Given the description of an element on the screen output the (x, y) to click on. 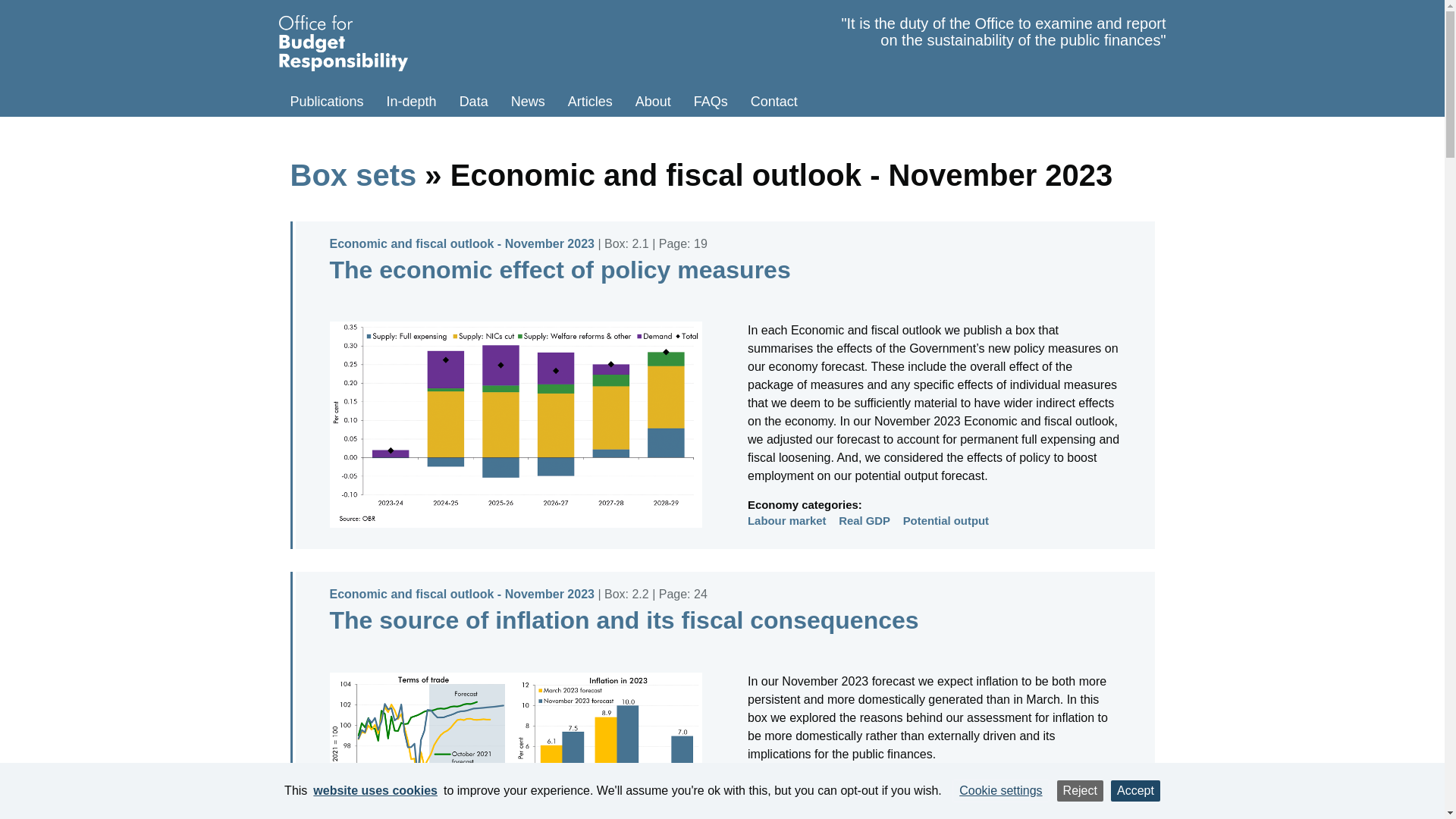
Box sets (352, 174)
Data (473, 101)
About (653, 101)
Publications (327, 101)
News (527, 101)
FAQs (710, 101)
Articles (590, 101)
Economic and fiscal outlook - November 2023 (461, 243)
Contact (774, 101)
In-depth (411, 101)
The economic effect of policy measures (559, 269)
